Given the description of an element on the screen output the (x, y) to click on. 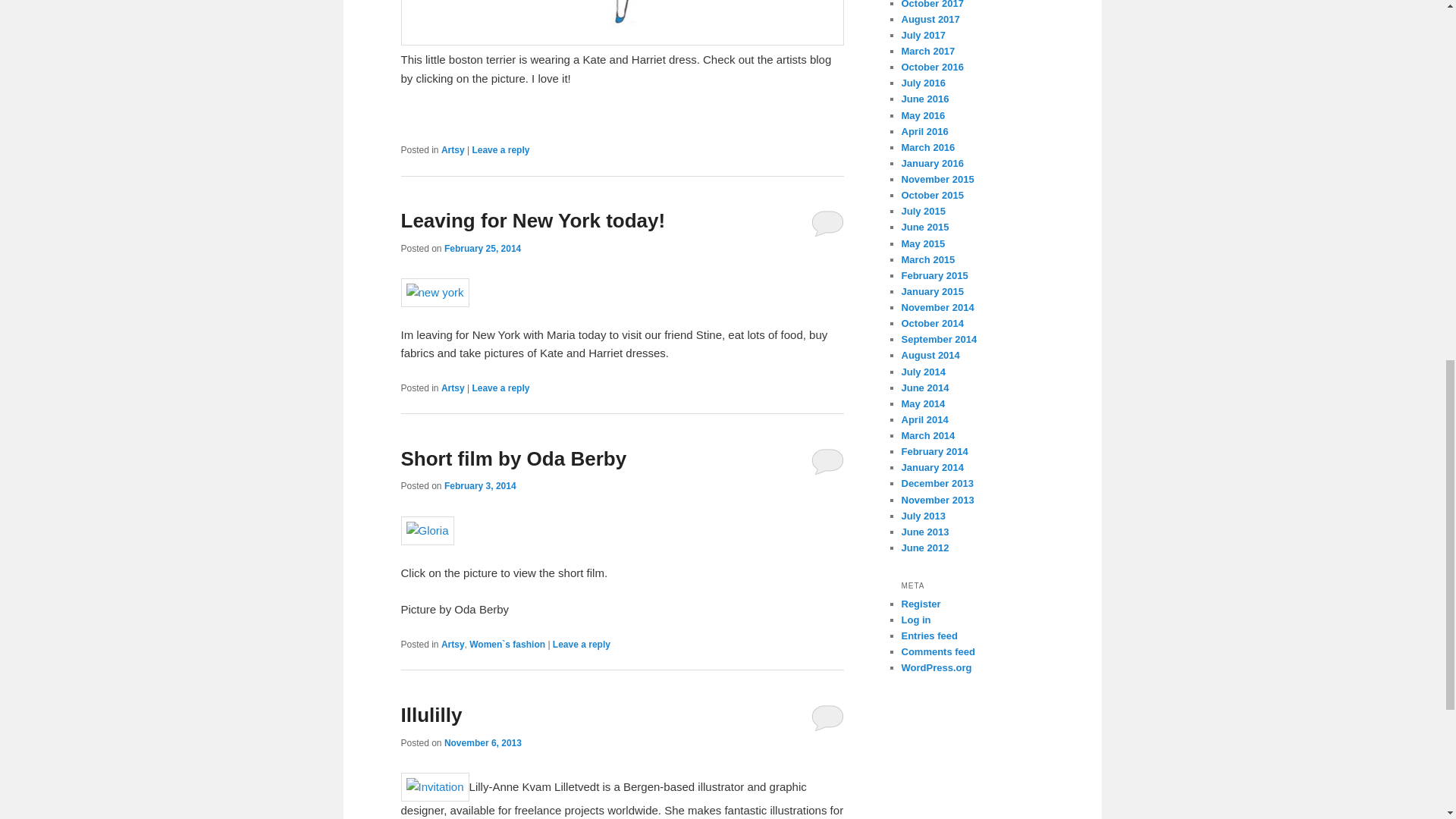
February 3, 2014 (480, 485)
Leaving for New York today! (532, 220)
November 6, 2013 (482, 742)
Artsy (452, 149)
07:00 (482, 742)
17:17 (480, 485)
Short film by Oda Berby (513, 458)
Leave a reply (581, 644)
Artsy (452, 388)
February 25, 2014 (482, 248)
